Given the description of an element on the screen output the (x, y) to click on. 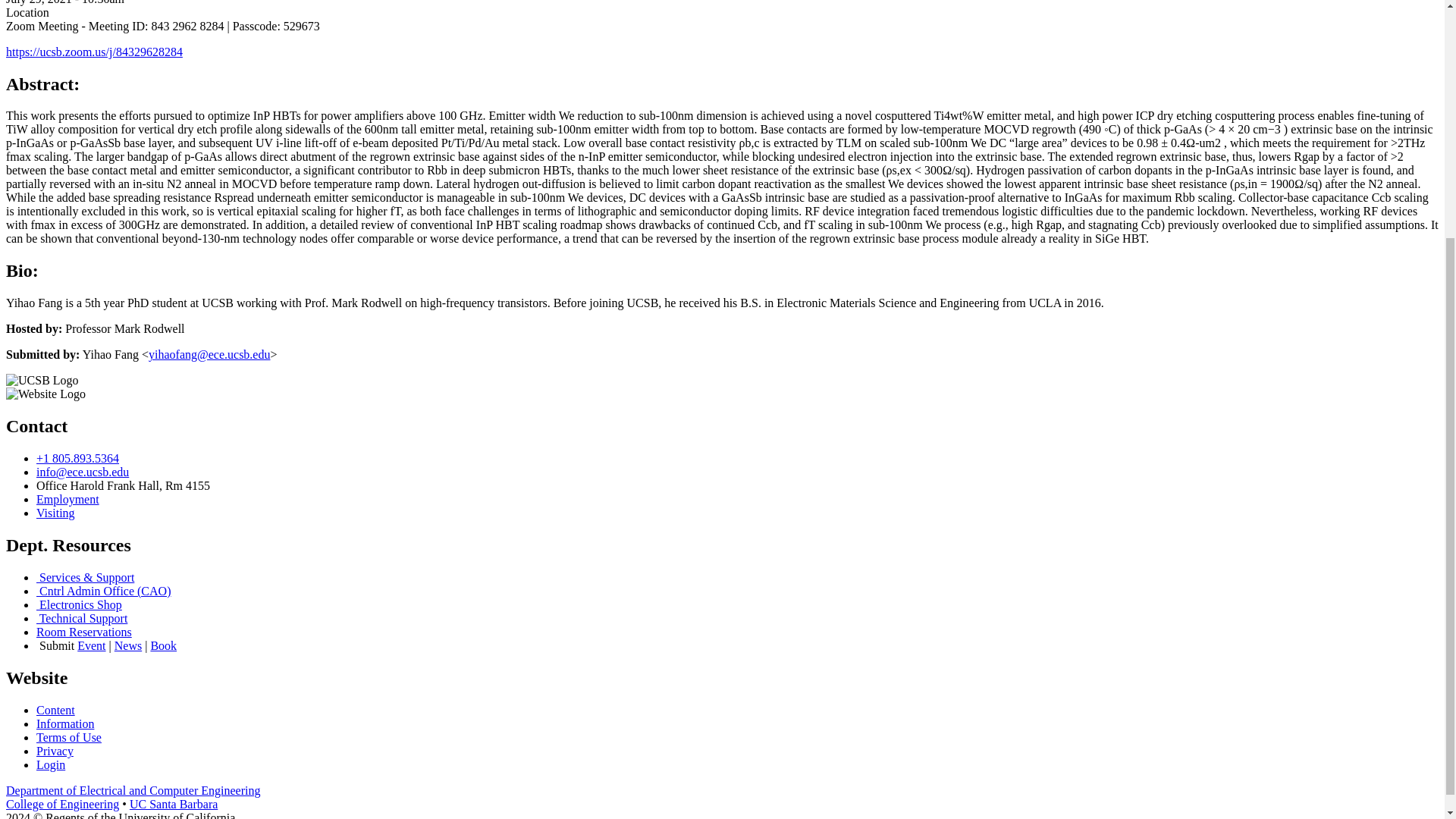
Event (90, 645)
UC Santa Barbara (172, 803)
 Electronics Shop (79, 604)
Employment (67, 499)
Visiting (55, 512)
 Technical Support (82, 617)
Information (65, 723)
Terms of Use (68, 737)
Department of Electrical and Computer Engineering (132, 789)
College of Engineering (62, 803)
Privacy (55, 750)
Login (50, 764)
Room Reservations (84, 631)
News (128, 645)
Content (55, 709)
